Given the description of an element on the screen output the (x, y) to click on. 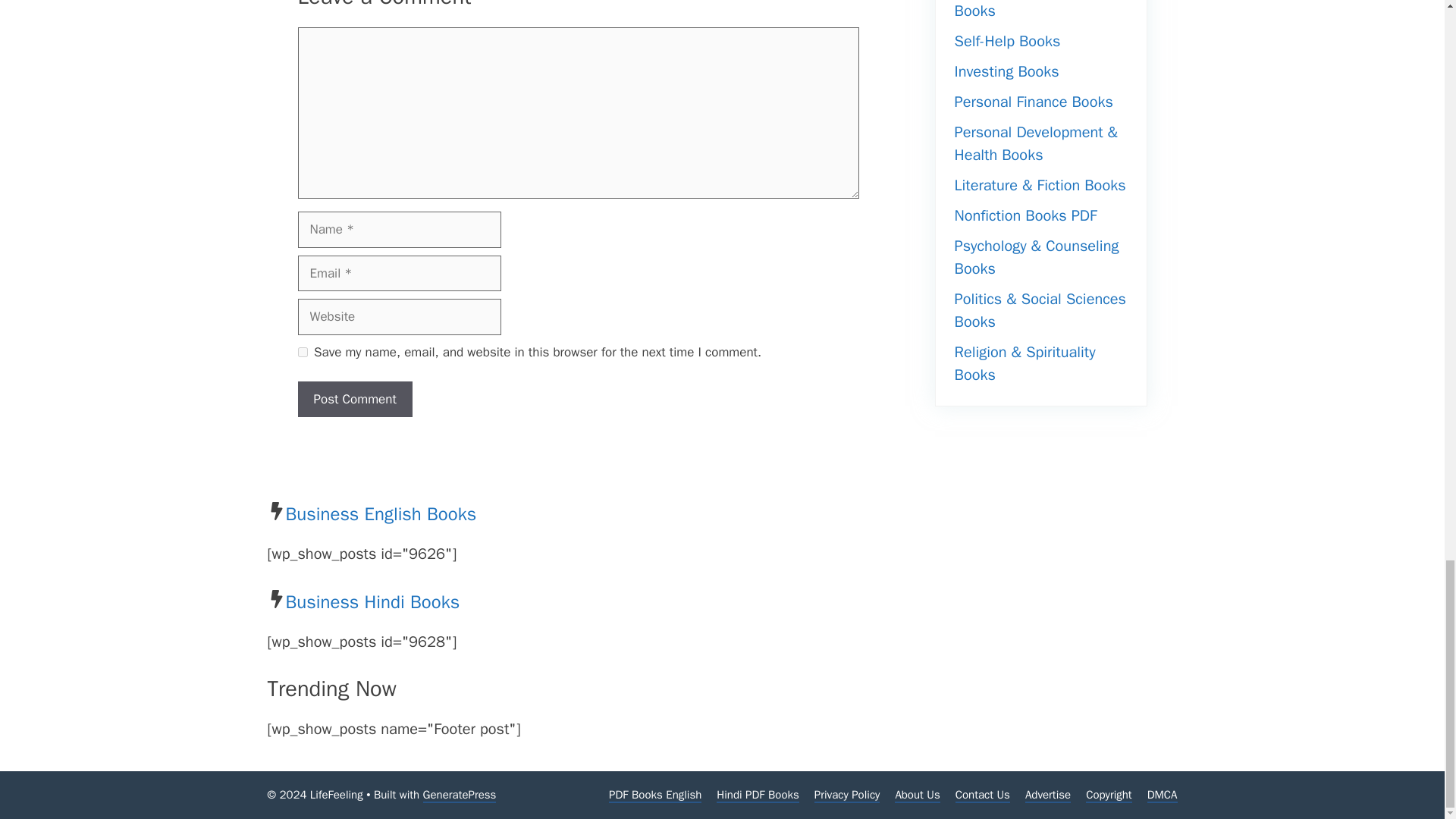
yes (302, 352)
Post Comment (354, 399)
Post Comment (354, 399)
